Given the description of an element on the screen output the (x, y) to click on. 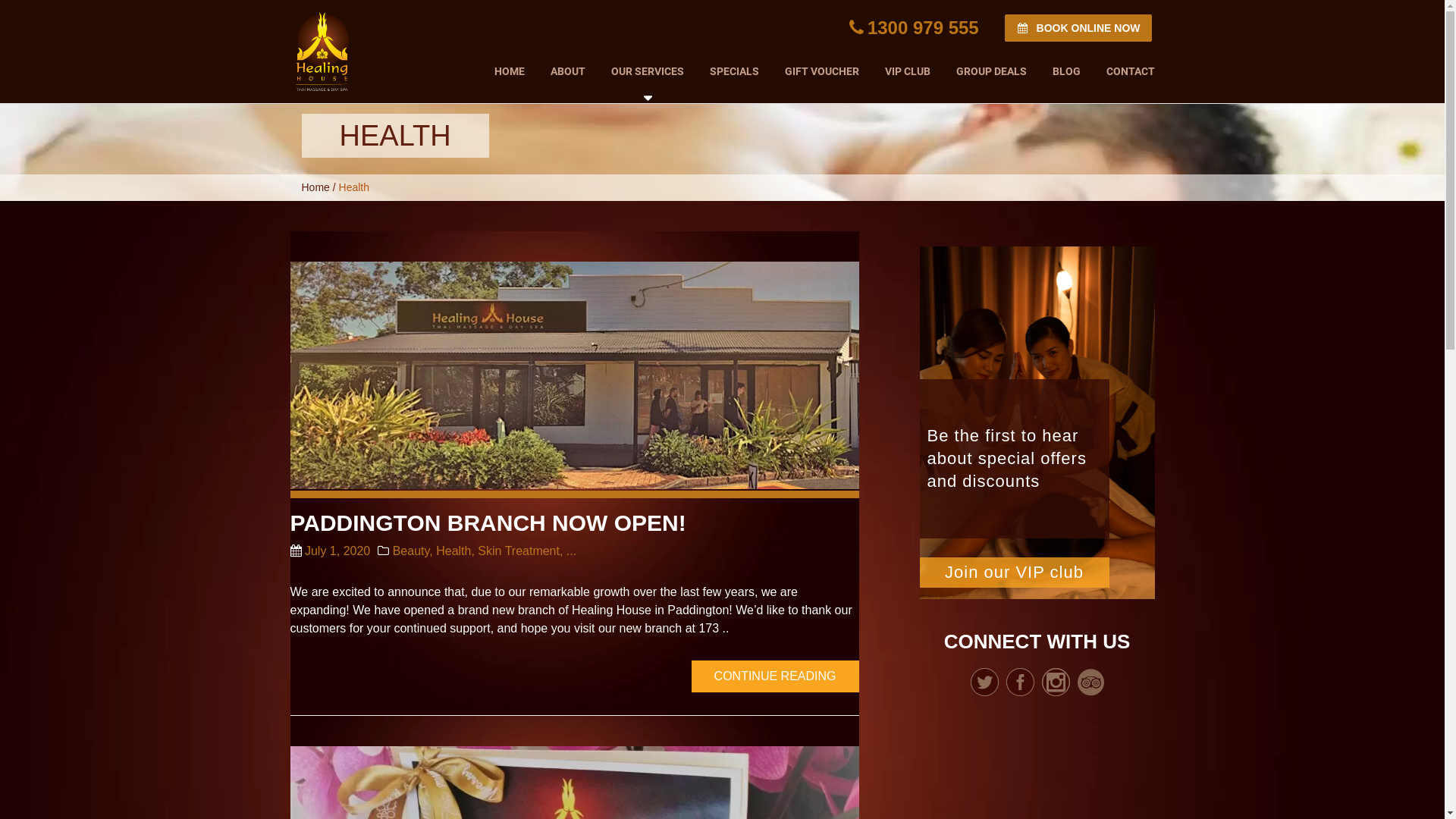
Paddington Branch Now Open! Element type: hover (573, 373)
BLOG Element type: text (1065, 67)
Skin Treatment Element type: text (518, 550)
GROUP DEALS Element type: text (991, 67)
VIP CLUB Element type: text (907, 67)
Beauty Element type: text (410, 550)
Health Element type: text (453, 550)
BOOK ONLINE NOW Element type: text (1077, 27)
ABOUT Element type: text (566, 67)
1300 979 555 Element type: text (914, 27)
GIFT VOUCHER Element type: text (821, 67)
CONTINUE READING Element type: text (775, 676)
PADDINGTON BRANCH NOW OPEN! Element type: text (487, 522)
HOME Element type: text (508, 67)
SPECIALS Element type: text (733, 67)
CONTACT Element type: text (1123, 67)
Join our VIP club Element type: text (1013, 572)
OUR SERVICES Element type: text (646, 70)
Home Element type: text (315, 187)
